Given the description of an element on the screen output the (x, y) to click on. 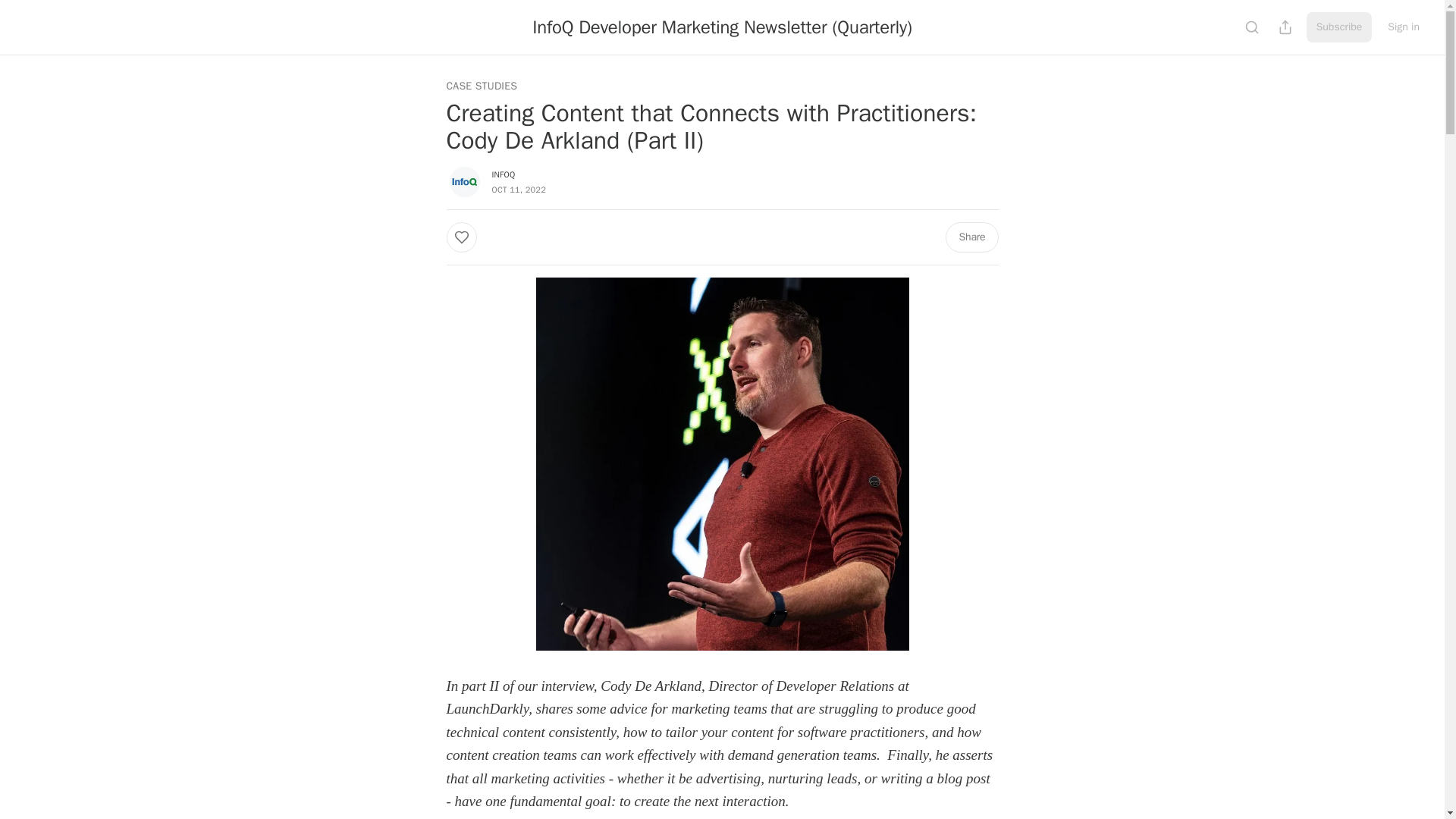
Subscribe (1339, 27)
INFOQ (503, 173)
Share (970, 236)
CASE STUDIES (480, 86)
Sign in (1403, 27)
